Given the description of an element on the screen output the (x, y) to click on. 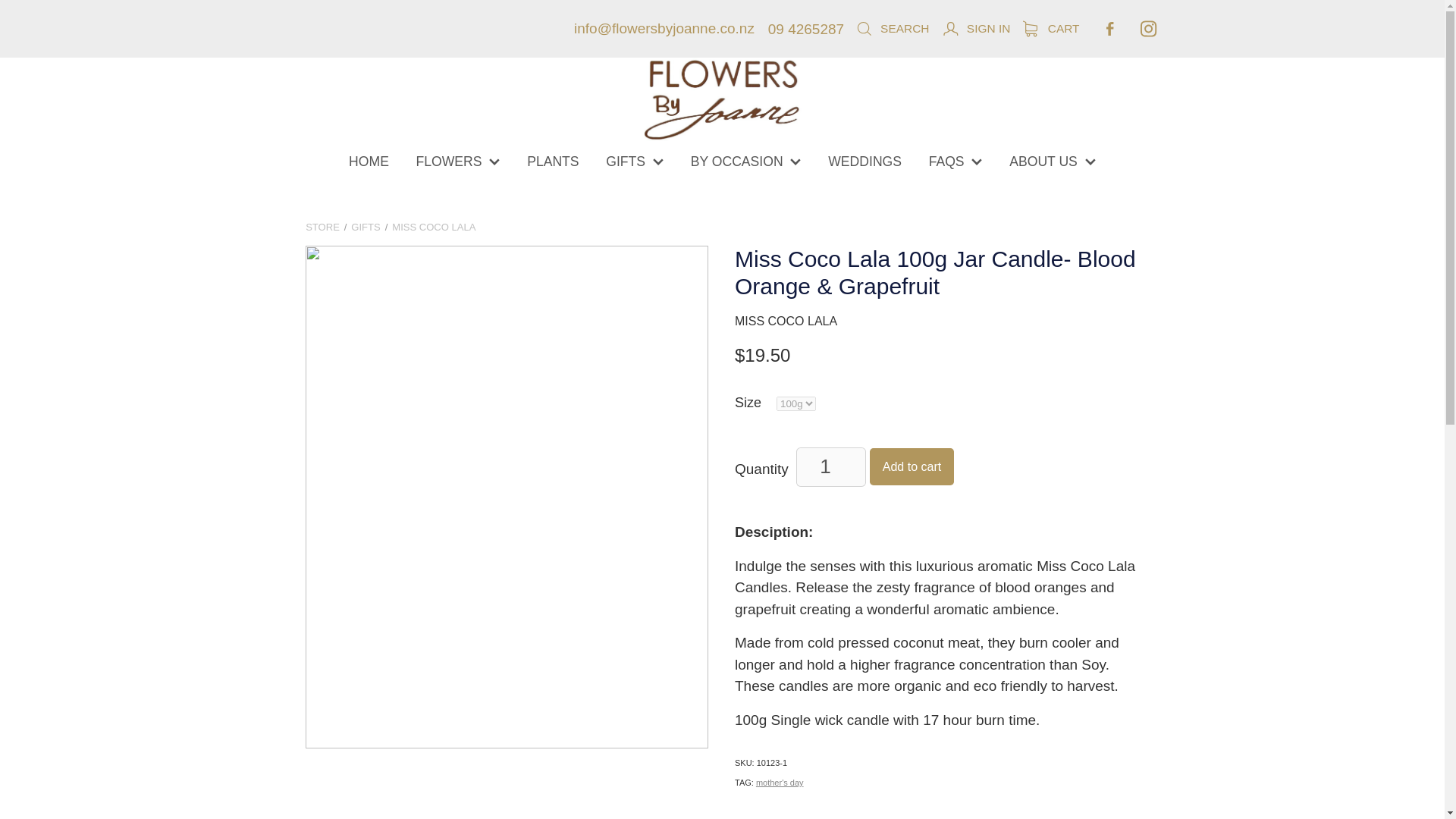
BY OCCASION (746, 161)
FLOWERS (458, 161)
CART (1051, 28)
SEARCH (892, 28)
WEDDINGS (863, 161)
FAQS (955, 161)
GIFTS (634, 161)
PLANTS (552, 161)
A link to this website's Facebook. (1109, 28)
1 (830, 466)
HOME (367, 161)
A link to this website's Instagram. (1148, 28)
SIGN IN (976, 28)
